Given the description of an element on the screen output the (x, y) to click on. 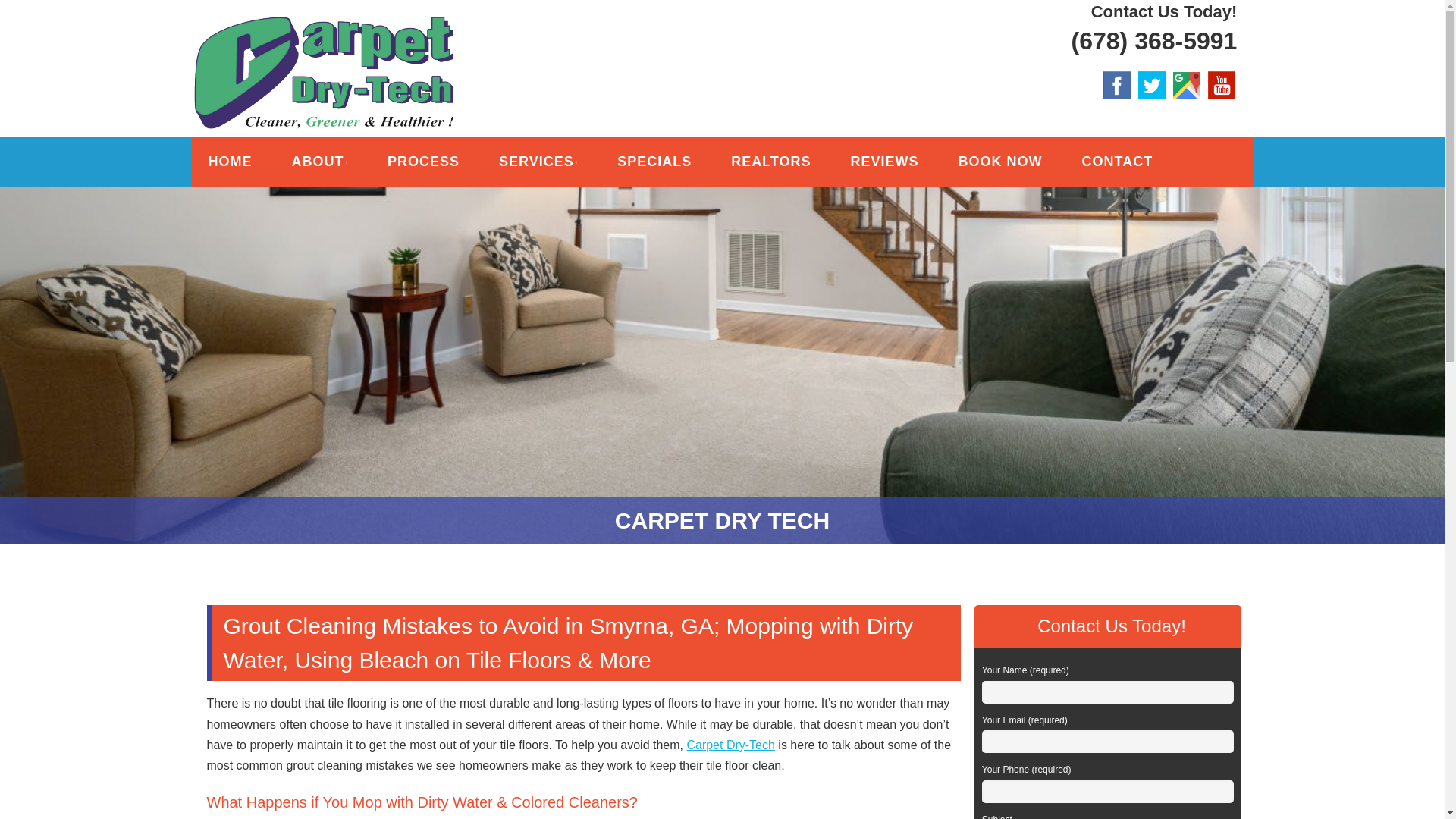
CONTACT (1117, 161)
Carpet Dry Tech (348, 35)
PROCESS (423, 161)
REALTORS (770, 161)
HOME (229, 161)
REVIEWS (884, 161)
CARPET DRY TECH (348, 35)
ABOUT (319, 161)
SPECIALS (654, 161)
BOOK NOW (999, 161)
SERVICES (538, 161)
